Given the description of an element on the screen output the (x, y) to click on. 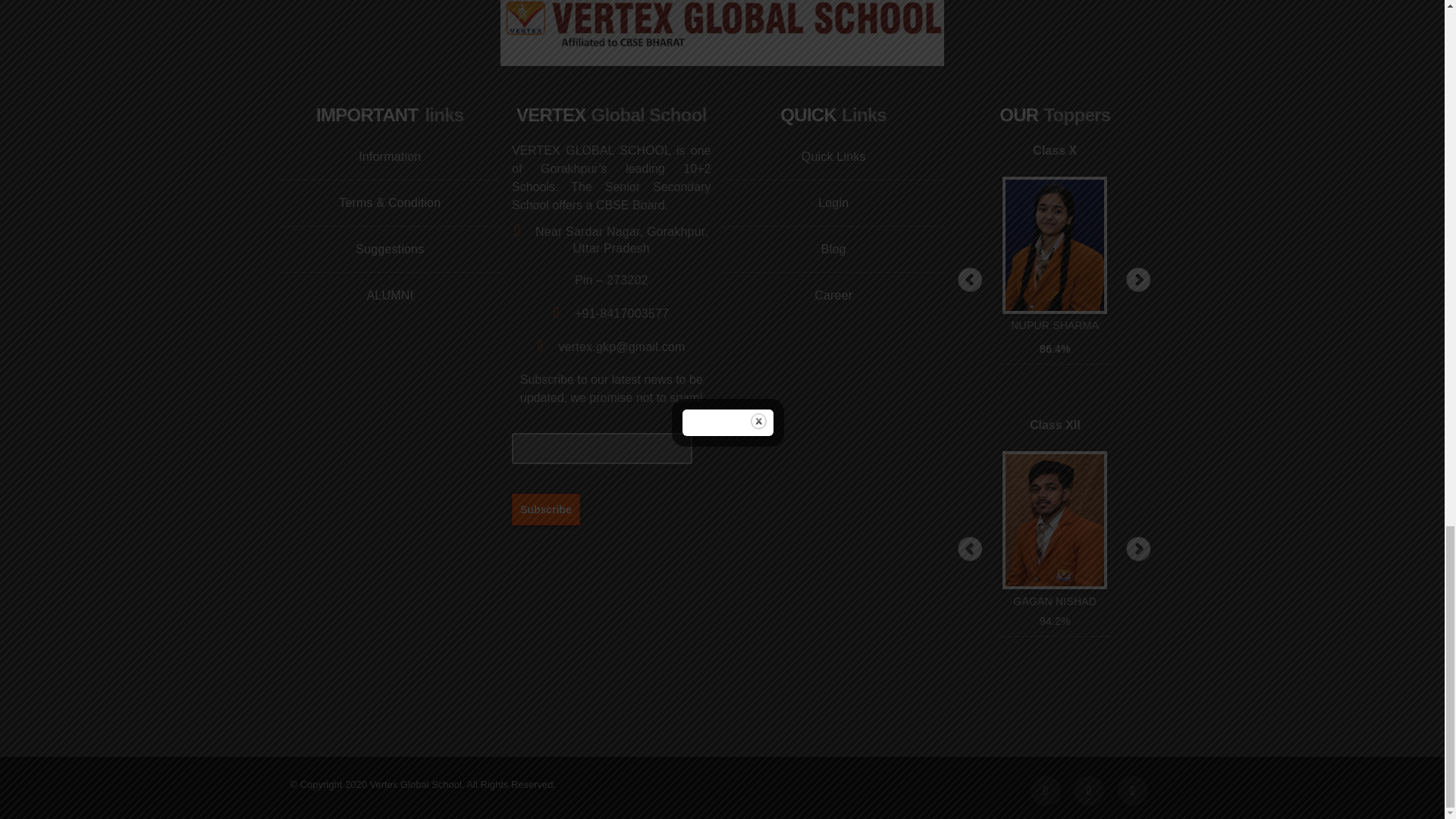
Subscribe (545, 508)
